Given the description of an element on the screen output the (x, y) to click on. 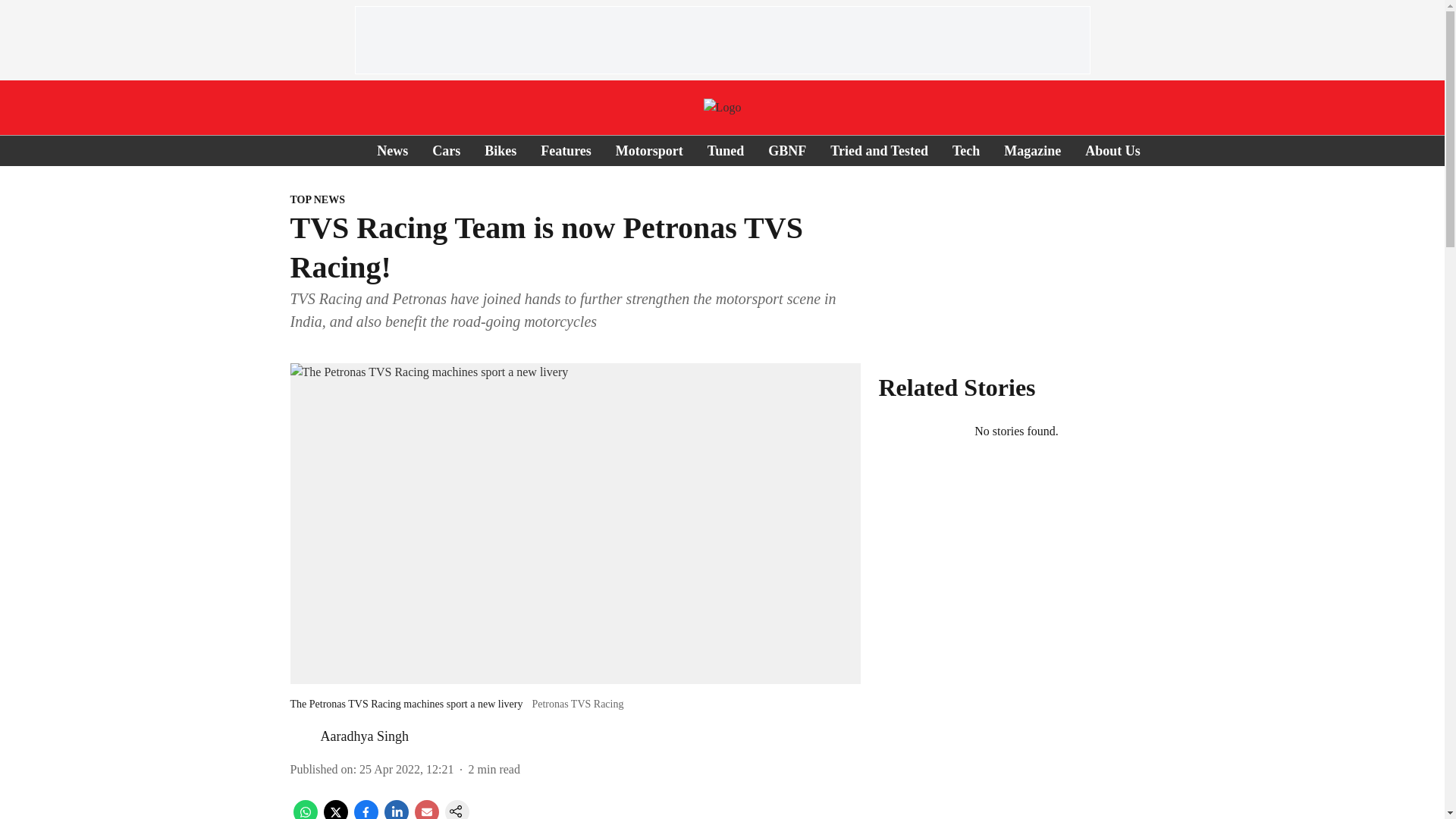
Bikes (500, 150)
Magazine (1032, 150)
GBNF (787, 150)
TOP NEWS (574, 200)
News (392, 150)
Aaradhya Singh (363, 735)
Tuned (725, 150)
Cars (446, 150)
Tried and Tested (878, 150)
